Given the description of an element on the screen output the (x, y) to click on. 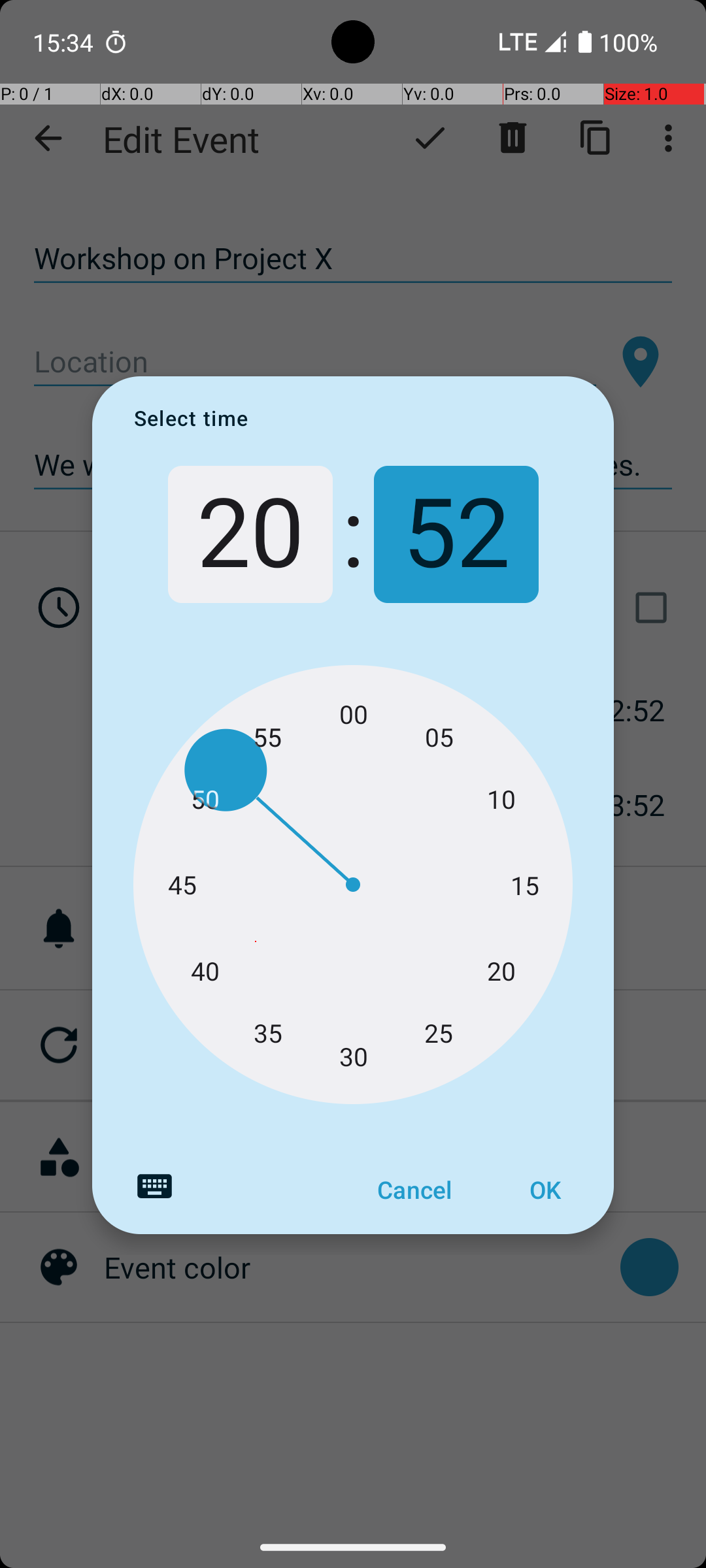
52 Element type: android.view.View (455, 534)
